Given the description of an element on the screen output the (x, y) to click on. 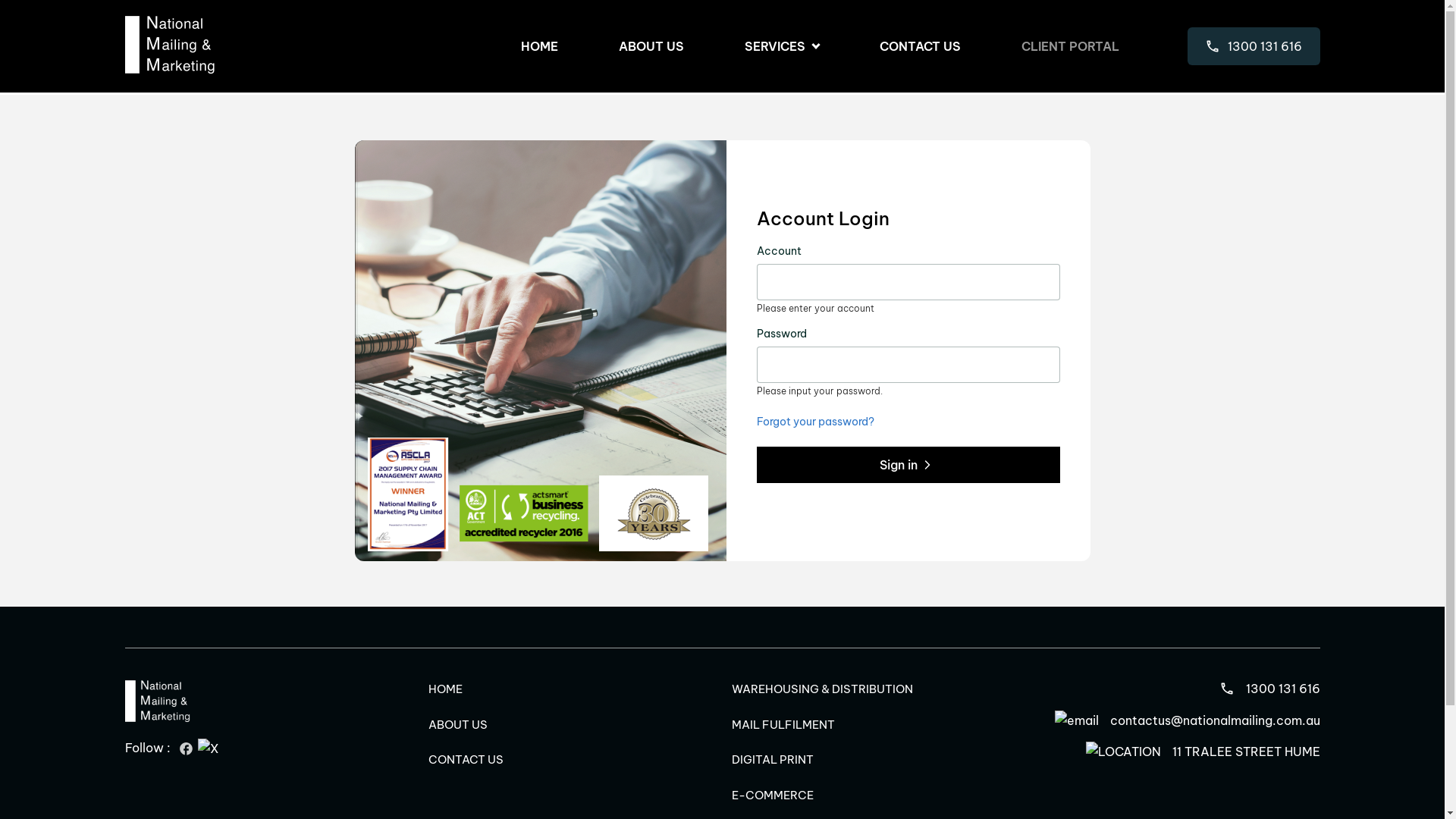
Sign in Element type: text (908, 464)
MAIL FULFILMENT Element type: text (782, 724)
SERVICES Element type: text (781, 46)
E-COMMERCE Element type: text (771, 794)
CLIENT PORTAL Element type: text (1069, 45)
1300 131 616 Element type: text (1269, 688)
DIGITAL PRINT Element type: text (771, 759)
CONTACT US Element type: text (919, 45)
ABOUT US Element type: text (456, 724)
Forgot your password? Element type: text (815, 421)
WAREHOUSING & DISTRIBUTION Element type: text (821, 688)
HOME Element type: text (538, 45)
ABOUT US Element type: text (651, 45)
1300 131 616 Element type: text (1253, 46)
contactus@nationalmailing.com.au Element type: text (1186, 720)
HOME Element type: text (444, 688)
CONTACT US Element type: text (464, 759)
